Given the description of an element on the screen output the (x, y) to click on. 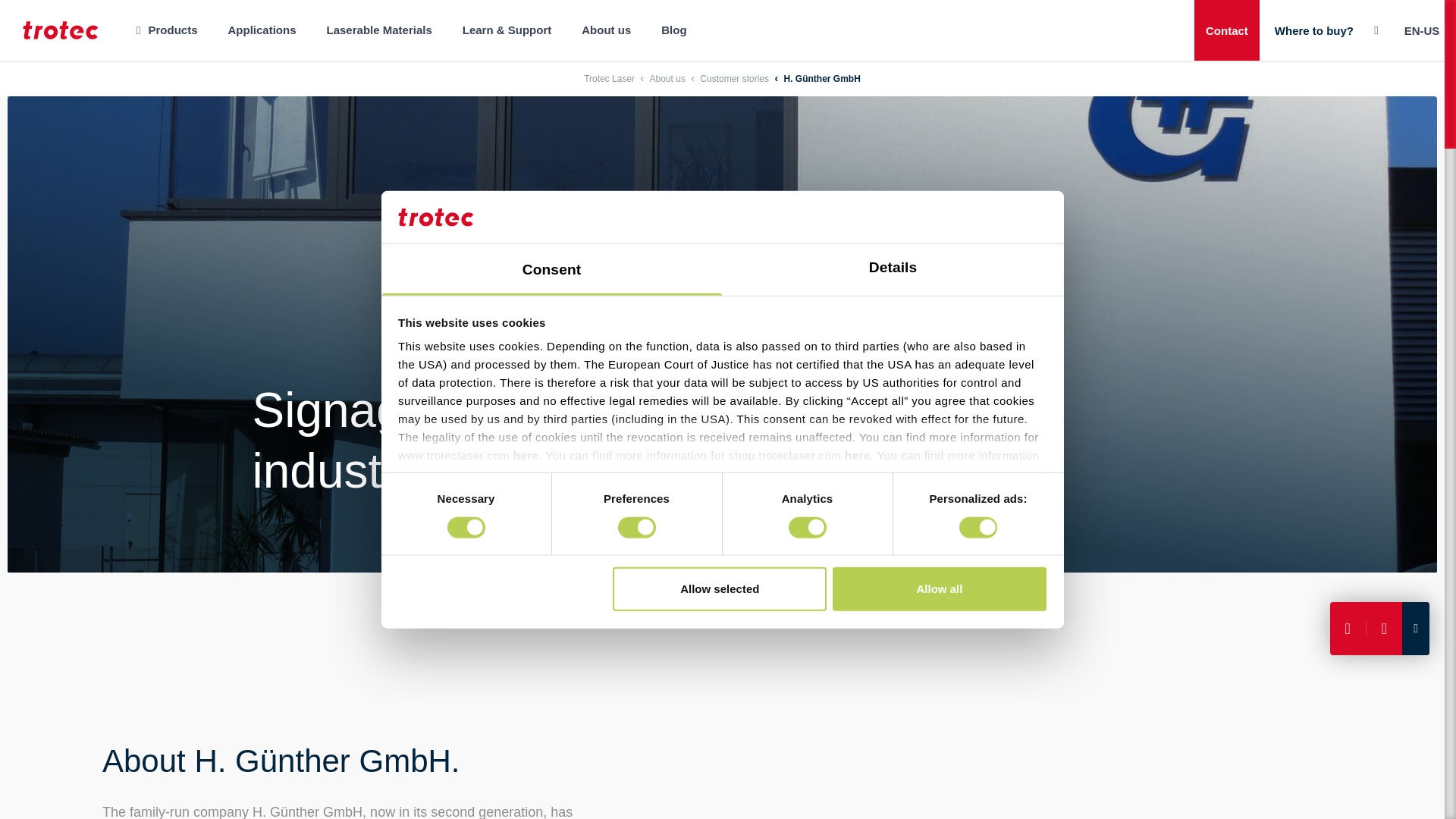
here (857, 454)
here (575, 472)
here (525, 454)
Consent (551, 269)
Details (892, 269)
